Given the description of an element on the screen output the (x, y) to click on. 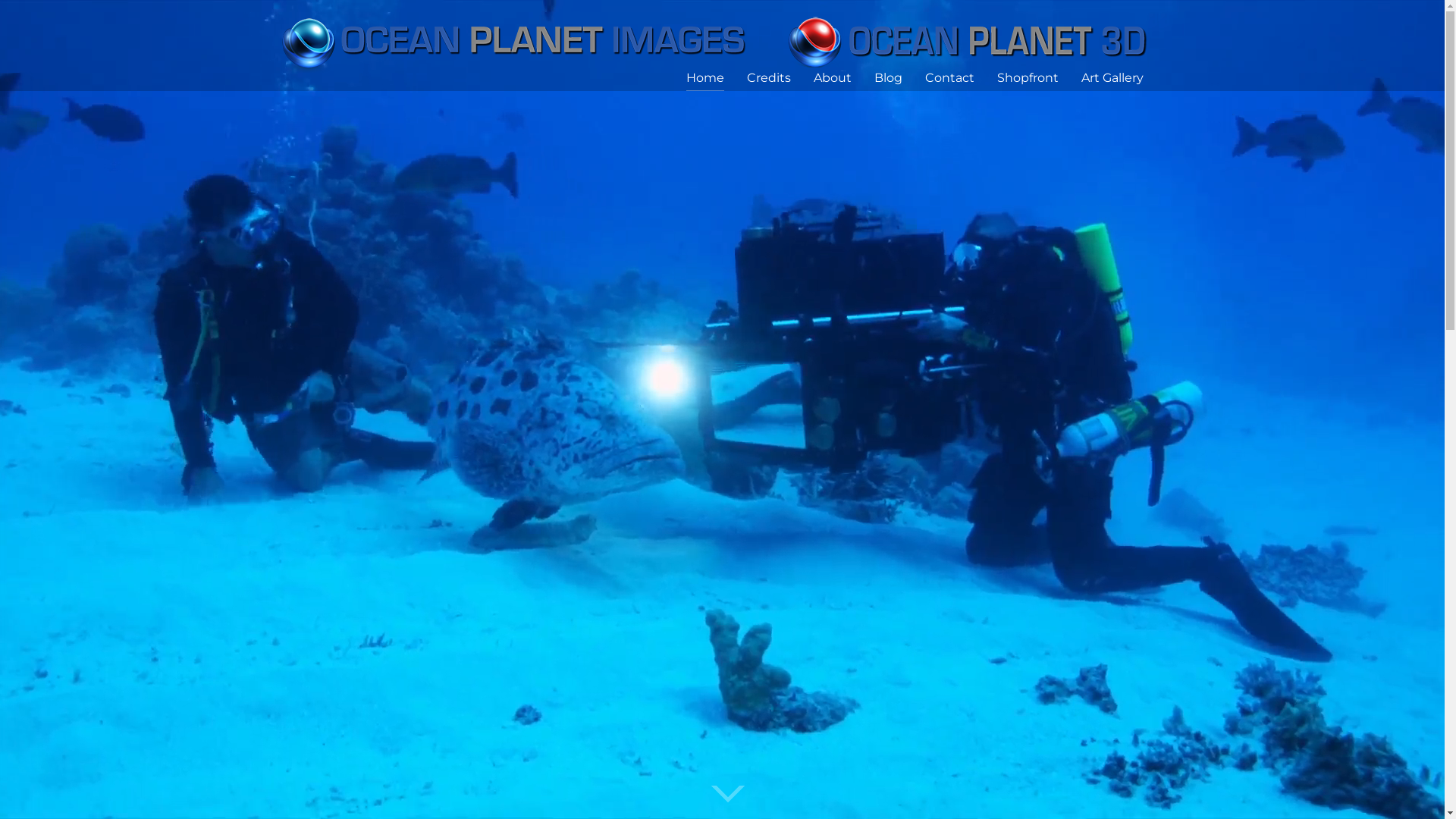
Blog Element type: text (887, 77)
Contact Element type: text (949, 77)
About Element type: text (831, 77)
Art Gallery Element type: text (1112, 77)
Shopfront Element type: text (1026, 77)
Cutting edge underwater production Element type: hover (719, 39)
Home Element type: text (704, 77)
Credits Element type: text (768, 77)
